Given the description of an element on the screen output the (x, y) to click on. 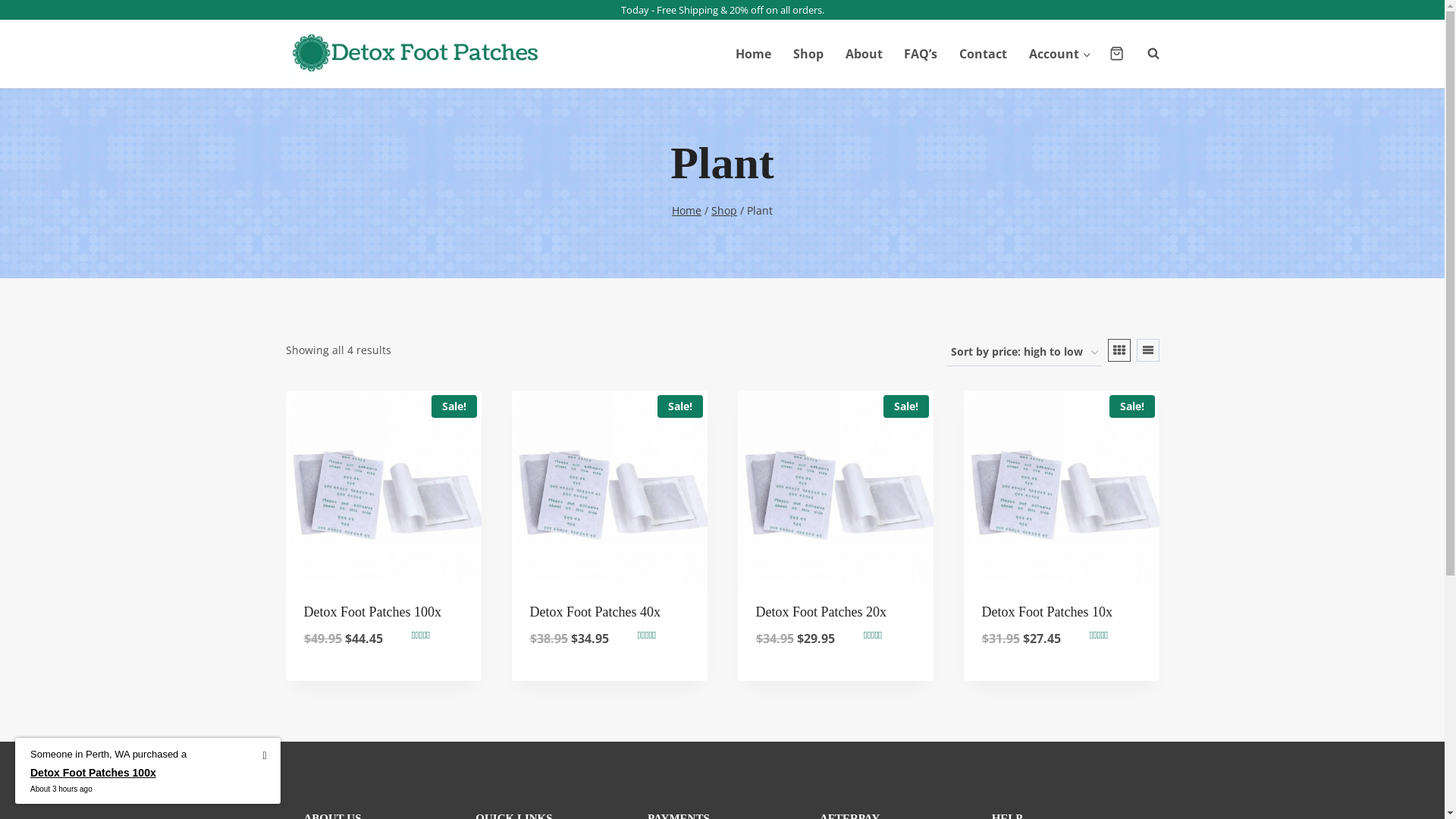
Detox Foot Patches 40x Element type: text (594, 611)
Detox Foot Patches 100x Element type: text (372, 611)
Grid View Element type: hover (1118, 349)
Sale! Element type: text (1060, 488)
List View Element type: hover (1146, 349)
Detox Foot Patches 10x Element type: text (1046, 611)
Sale! Element type: text (382, 488)
Account Element type: text (1060, 53)
Sale! Element type: text (834, 488)
Shop Element type: text (807, 53)
Shop Element type: text (724, 210)
Detox Foot Patches 20x Element type: text (820, 611)
Sale! Element type: text (608, 488)
Home Element type: text (753, 53)
Contact Element type: text (983, 53)
Home Element type: text (686, 210)
About Element type: text (863, 53)
Detox Foot Patches 100x Element type: text (108, 772)
